Given the description of an element on the screen output the (x, y) to click on. 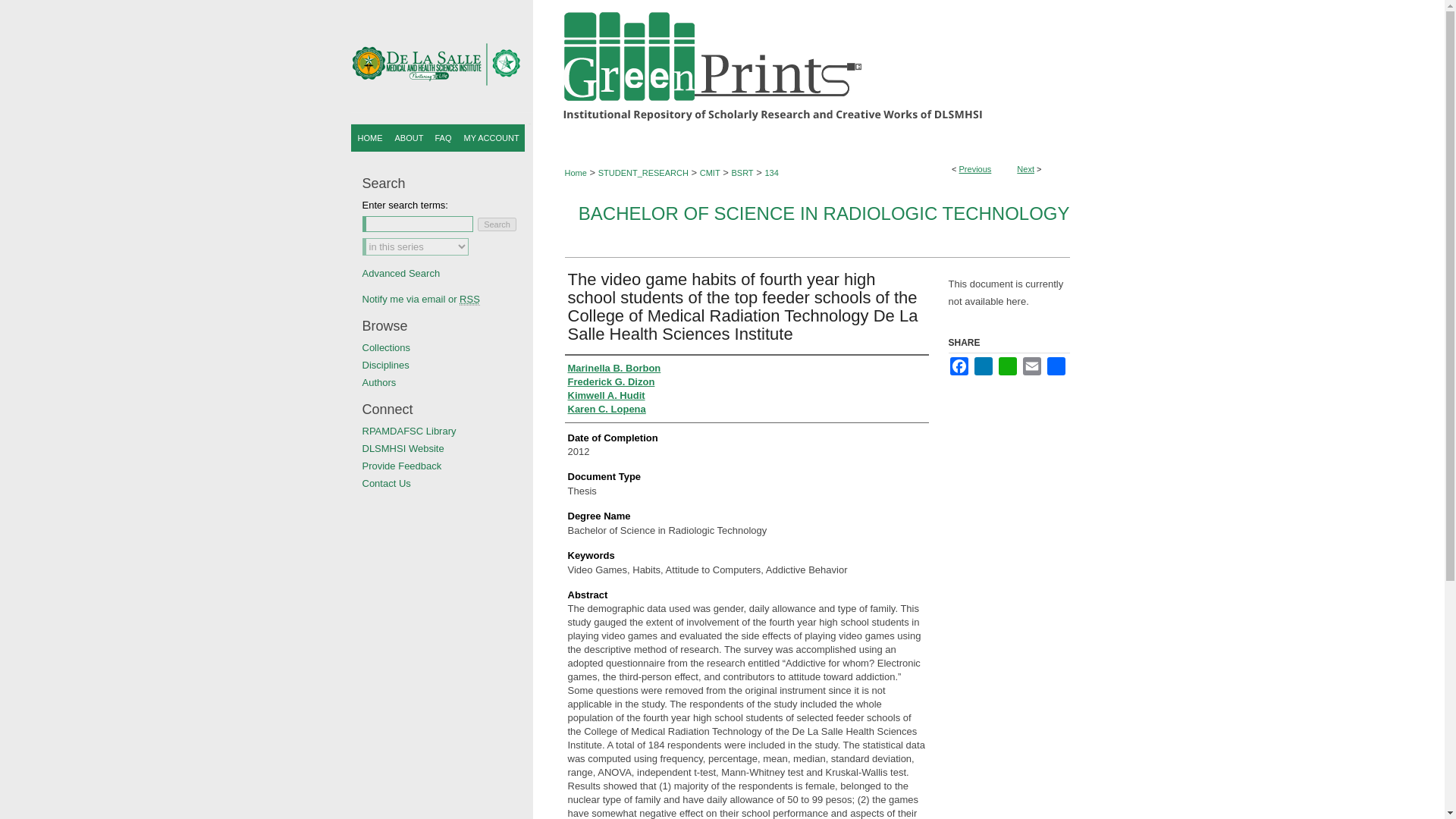
GreenPrints (721, 62)
Really Simple Syndication (470, 299)
FAQ (443, 137)
Previous (975, 168)
WhatsApp (1006, 366)
BACHELOR OF SCIENCE IN RADIOLOGIC TECHNOLOGY (824, 213)
CMIT (710, 172)
My Account (491, 137)
Disciplines (447, 365)
FAQ (443, 137)
Home (369, 137)
134 (770, 172)
ABOUT (408, 137)
Kimwell A. Hudit (606, 395)
BSRT (741, 172)
